Given the description of an element on the screen output the (x, y) to click on. 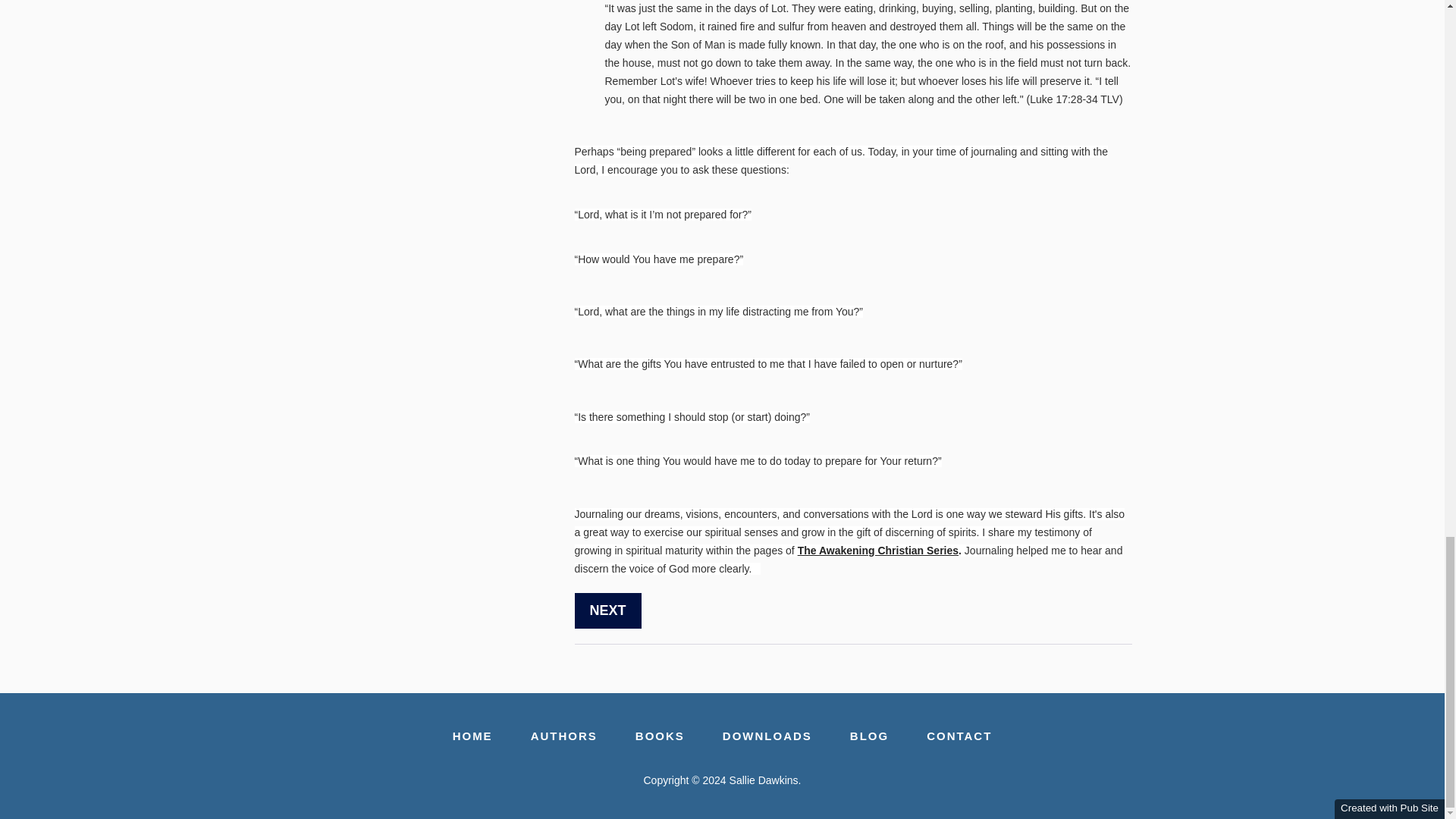
The Awakening Christian Series (877, 550)
NEXT (608, 610)
